Given the description of an element on the screen output the (x, y) to click on. 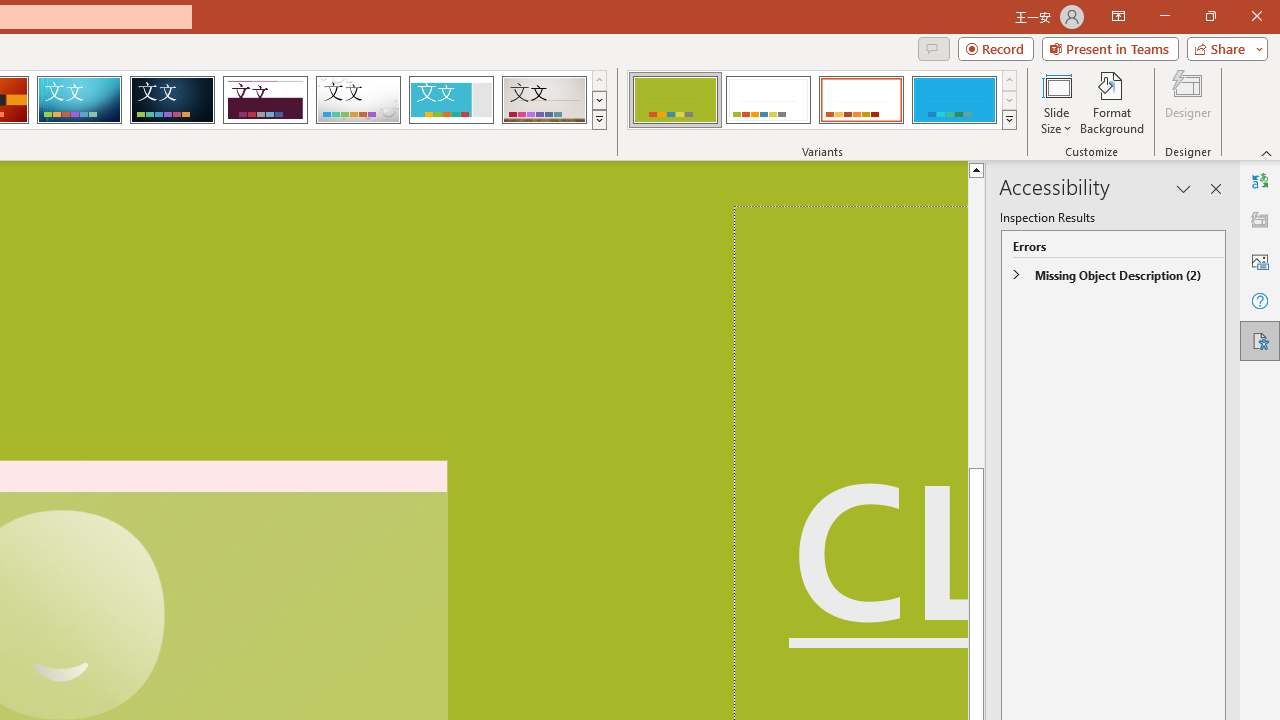
Dividend (265, 100)
Variants (1009, 120)
Damask (171, 100)
Frame (450, 100)
Format Background (1111, 102)
